Given the description of an element on the screen output the (x, y) to click on. 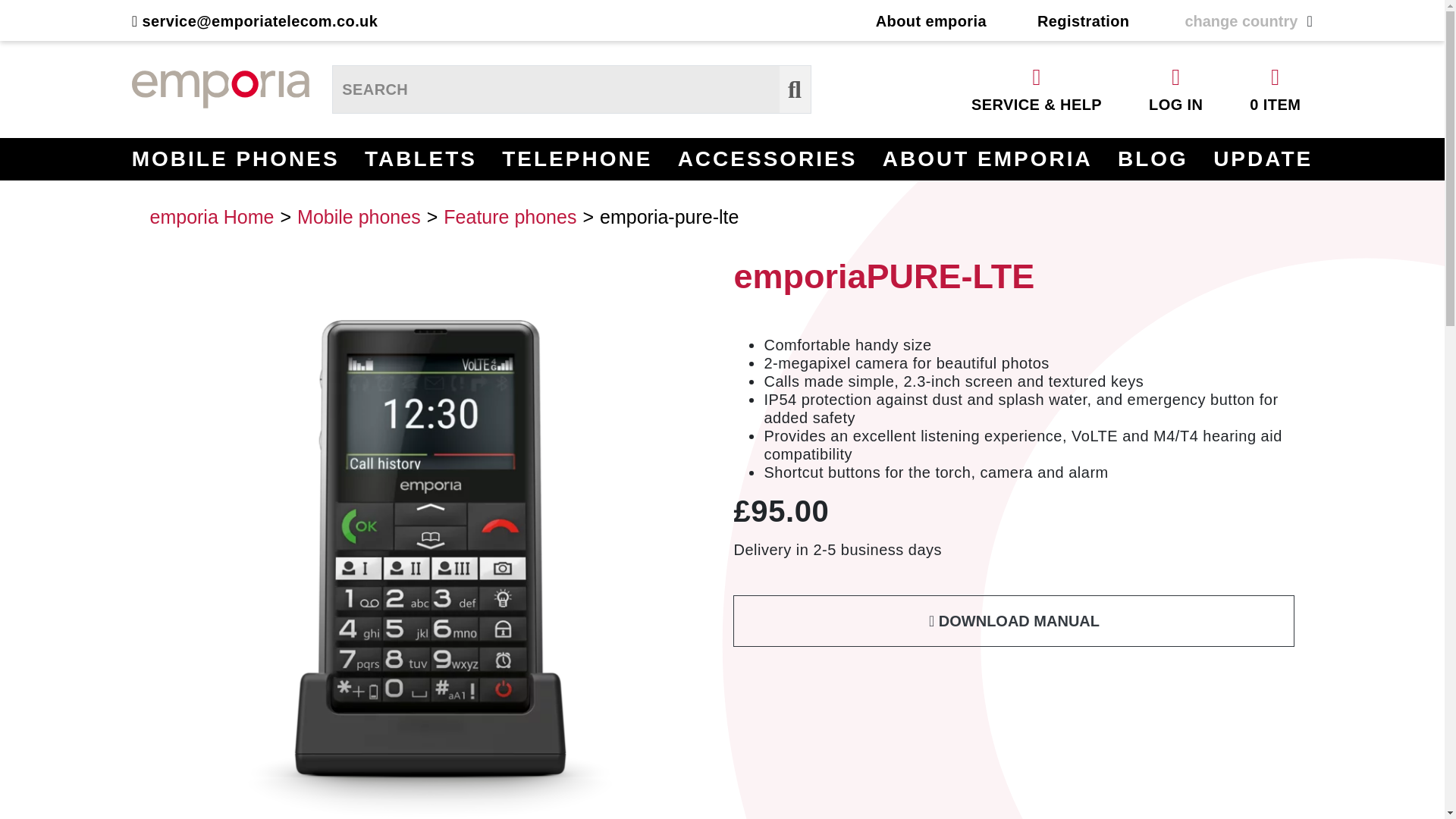
MOBILE PHONES (235, 159)
ACCESSORIES (767, 159)
About emporia (931, 21)
Registration (1082, 21)
UPDATE (1262, 159)
BLOG (1153, 159)
LOG IN (1175, 89)
ABOUT EMPORIA (987, 159)
0 ITEM (1275, 89)
TABLETS (421, 159)
TELEPHONE (577, 159)
change country (1240, 21)
